Given the description of an element on the screen output the (x, y) to click on. 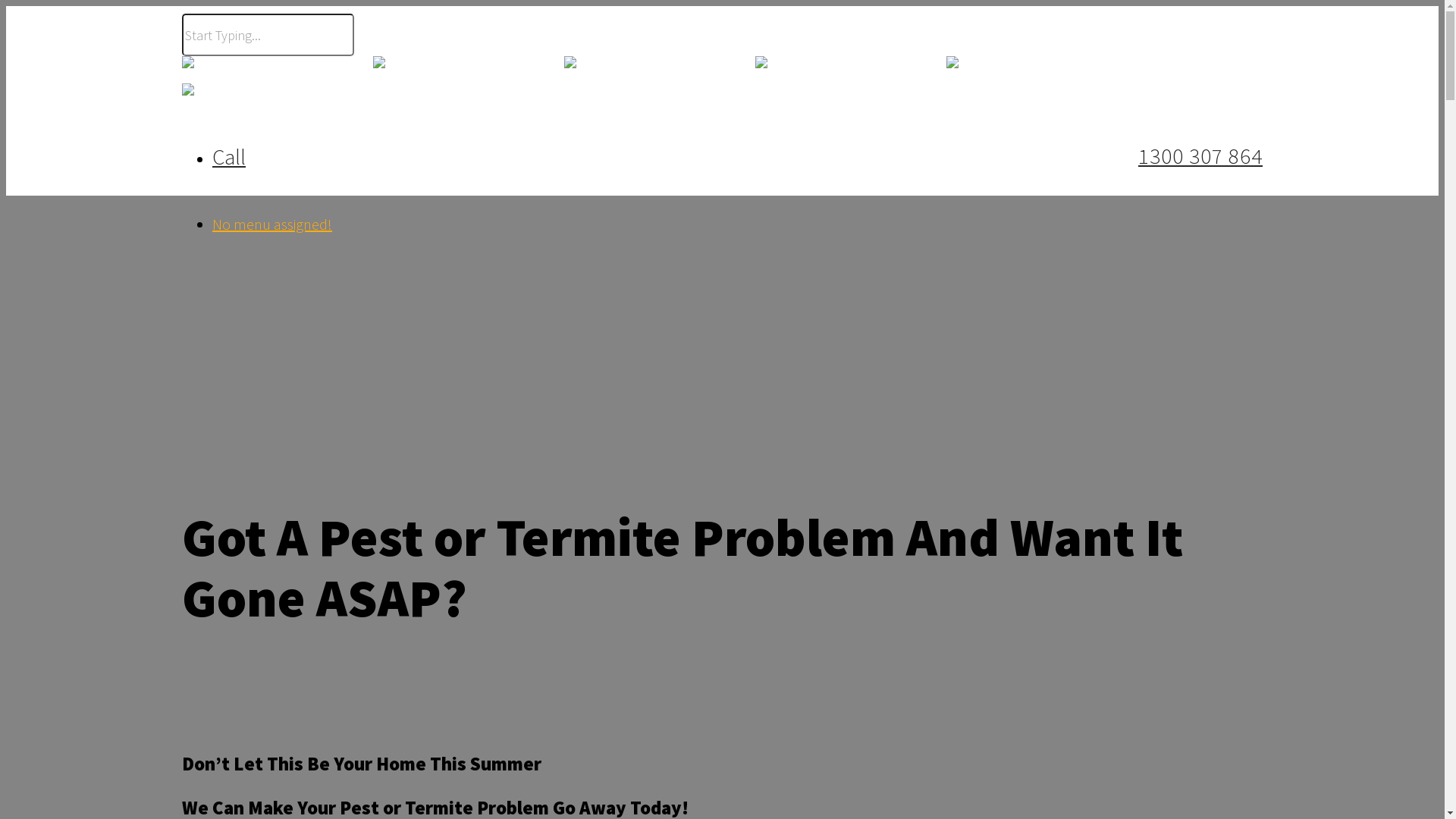
Call Element type: text (228, 156)
No menu assigned! Element type: text (272, 223)
1300 307 864 Element type: text (1177, 154)
